Given the description of an element on the screen output the (x, y) to click on. 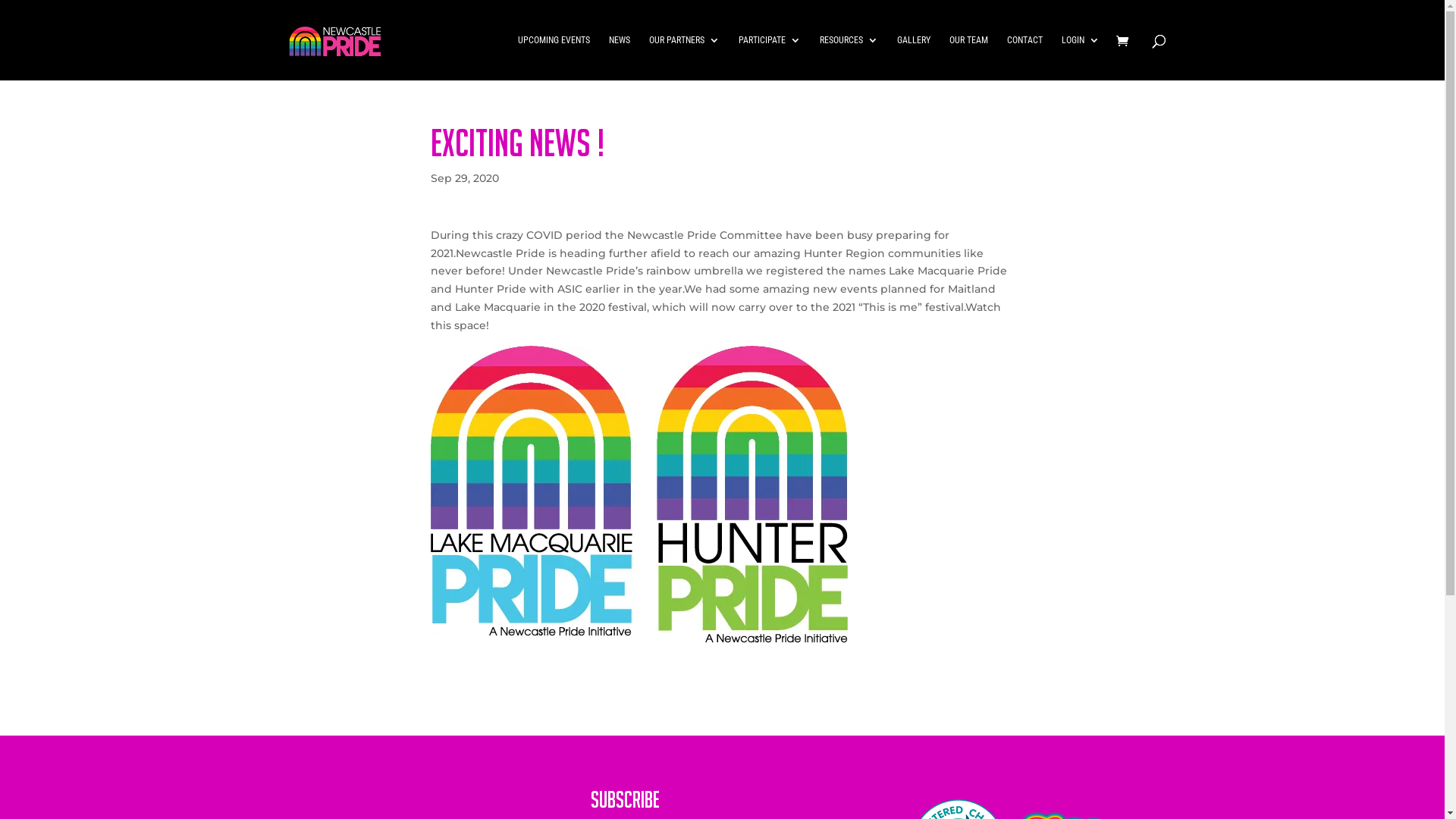
LOGIN Element type: text (1080, 57)
OUR TEAM Element type: text (968, 57)
CONTACT Element type: text (1024, 57)
OUR PARTNERS Element type: text (684, 57)
RESOURCES Element type: text (848, 57)
PARTICIPATE Element type: text (769, 57)
UPCOMING EVENTS Element type: text (553, 57)
NEWS Element type: text (618, 57)
GALLERY Element type: text (912, 57)
